Given the description of an element on the screen output the (x, y) to click on. 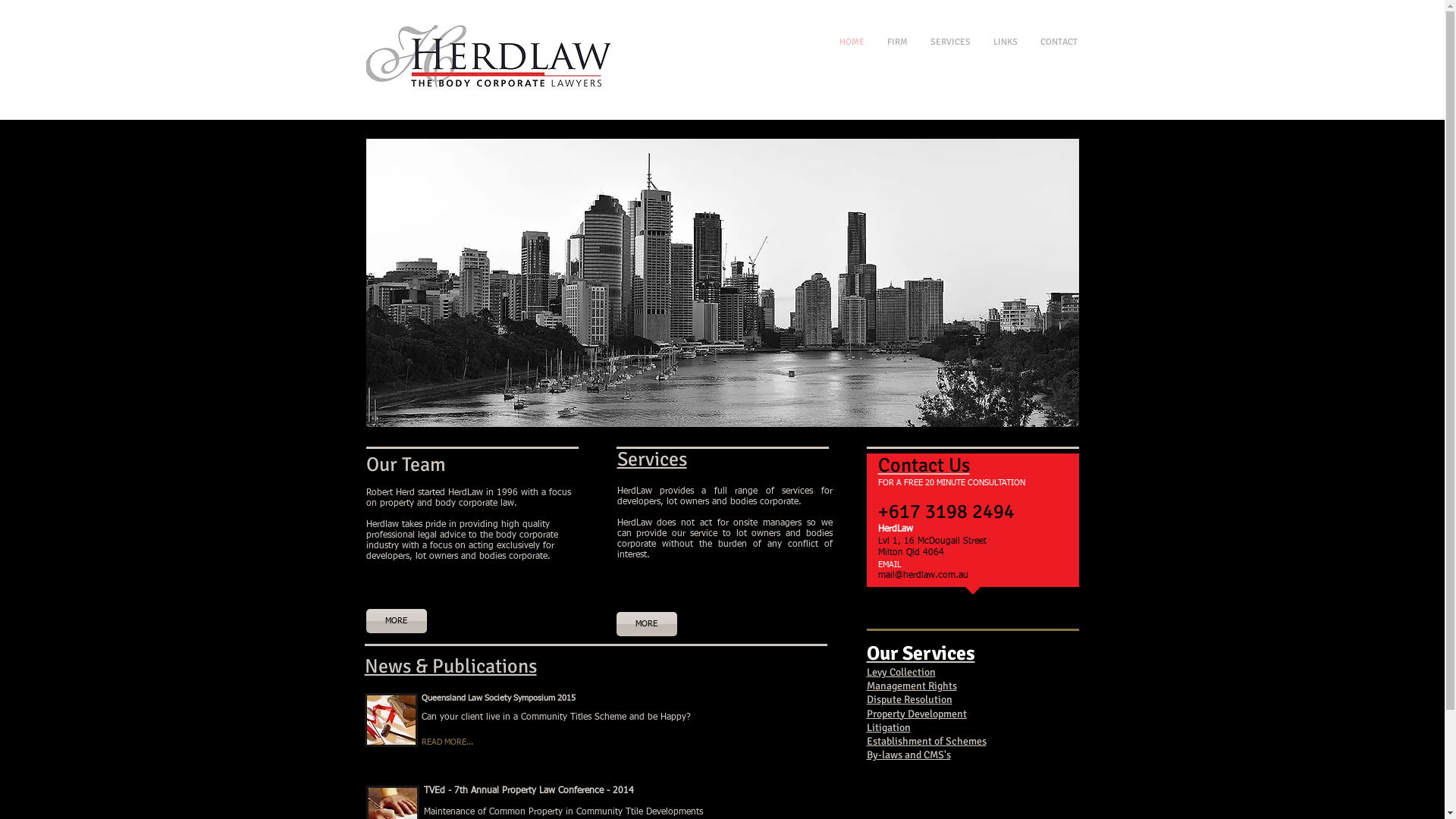
LINKS Element type: text (1038, 42)
READ MORE... Element type: text (478, 742)
MORE Element type: text (645, 623)
Levy Collection Element type: text (900, 671)
Litigation Element type: text (888, 727)
SERVICES Element type: text (995, 42)
Property Development Element type: text (916, 712)
CONTACT Element type: text (1090, 42)
Contact Us Element type: text (923, 465)
MORE Element type: text (395, 620)
HOME Element type: text (901, 42)
Our Services Element type: text (920, 653)
FIRM Element type: text (944, 42)
mail@herdlaw.com.au Element type: text (923, 575)
Services Element type: text (652, 459)
News & Publications Element type: text (450, 666)
Dispute Resolution Element type: text (908, 699)
Body Corporate lawyer articles Element type: hover (390, 719)
Management Rights Element type: text (911, 685)
